Given the description of an element on the screen output the (x, y) to click on. 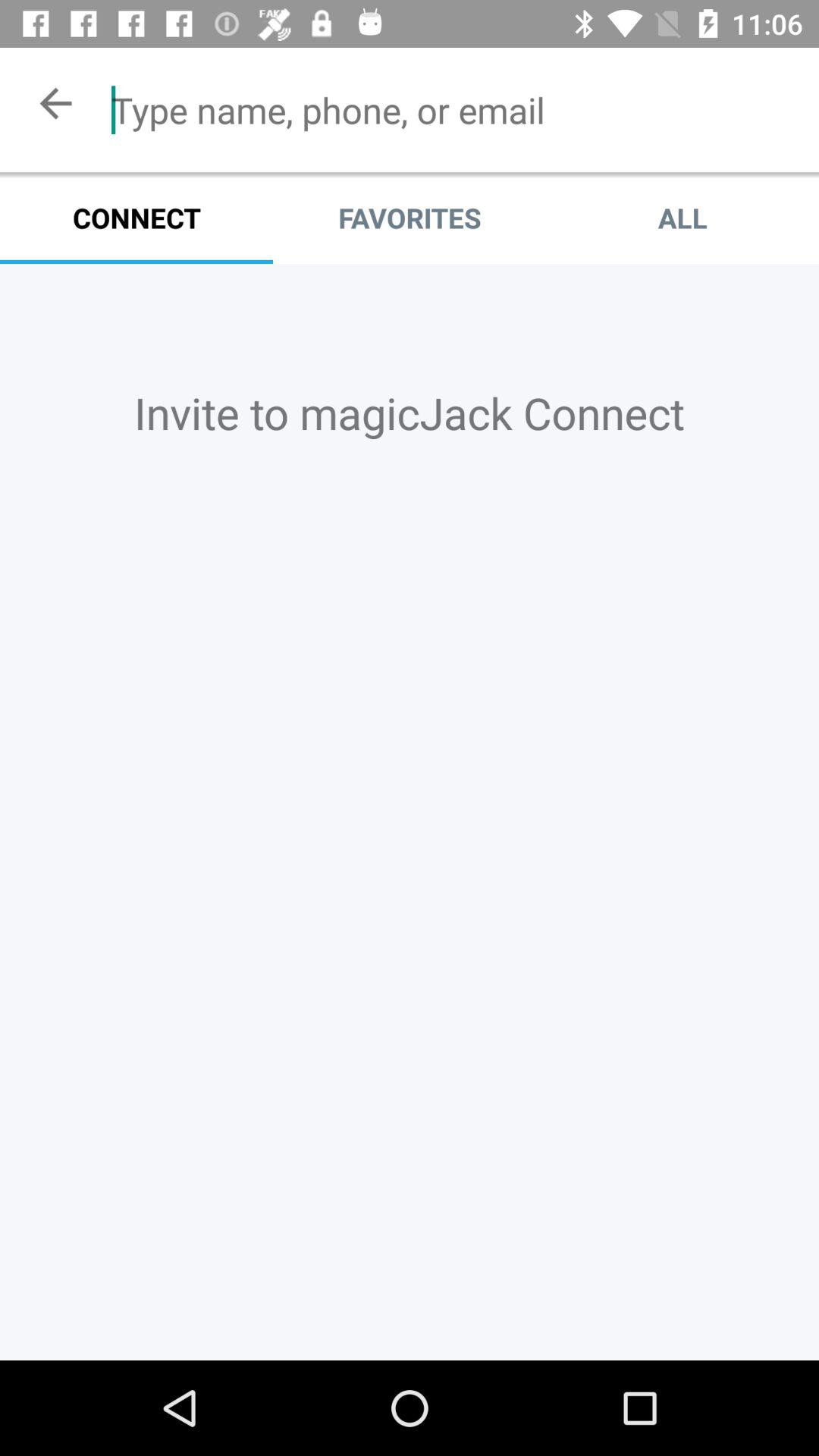
click item to the left of the all item (409, 217)
